Given the description of an element on the screen output the (x, y) to click on. 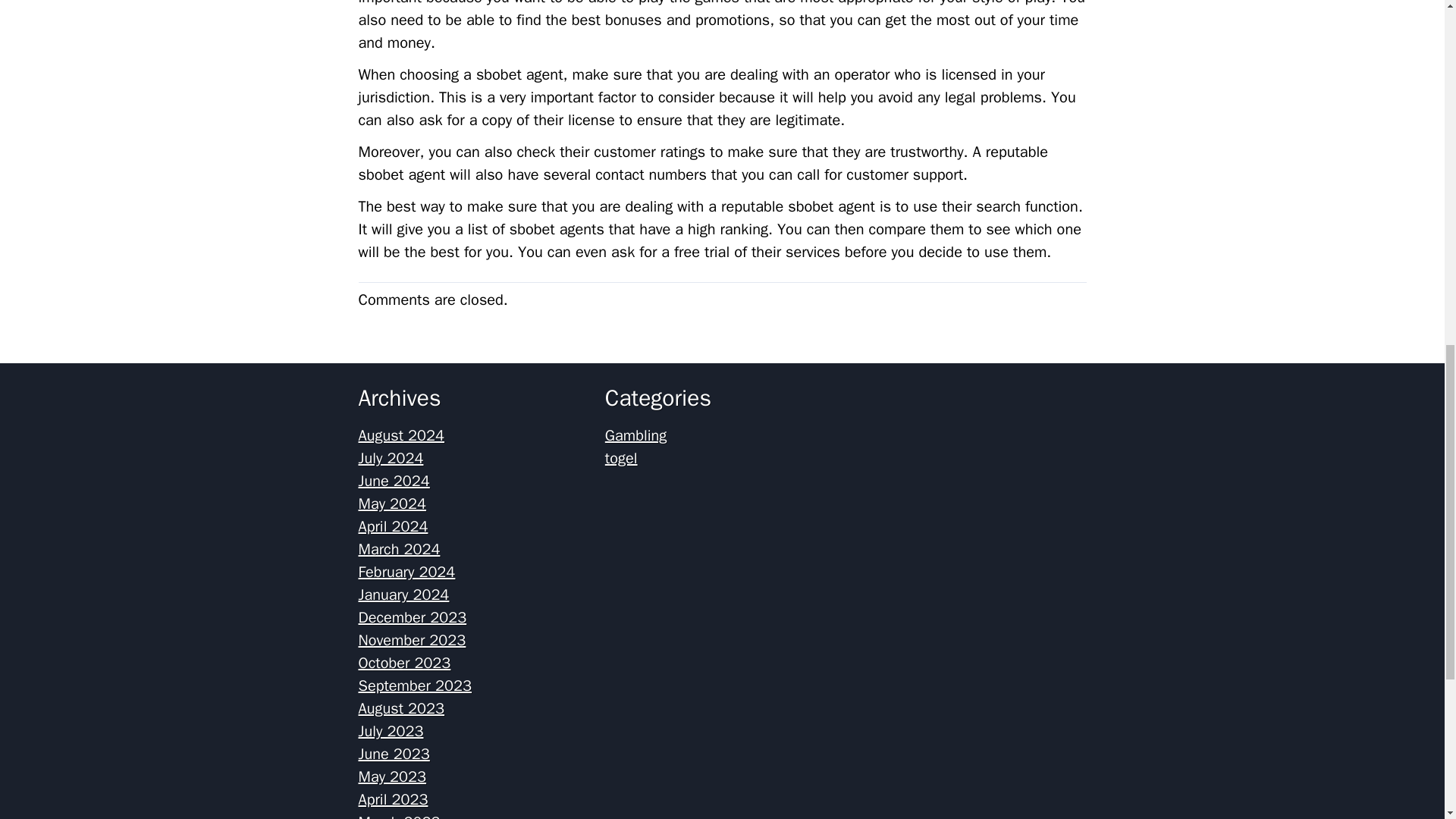
June 2024 (393, 480)
April 2024 (393, 526)
January 2024 (403, 594)
December 2023 (411, 617)
August 2023 (401, 708)
June 2023 (393, 753)
October 2023 (403, 662)
November 2023 (411, 640)
May 2024 (392, 503)
August 2024 (401, 435)
